Given the description of an element on the screen output the (x, y) to click on. 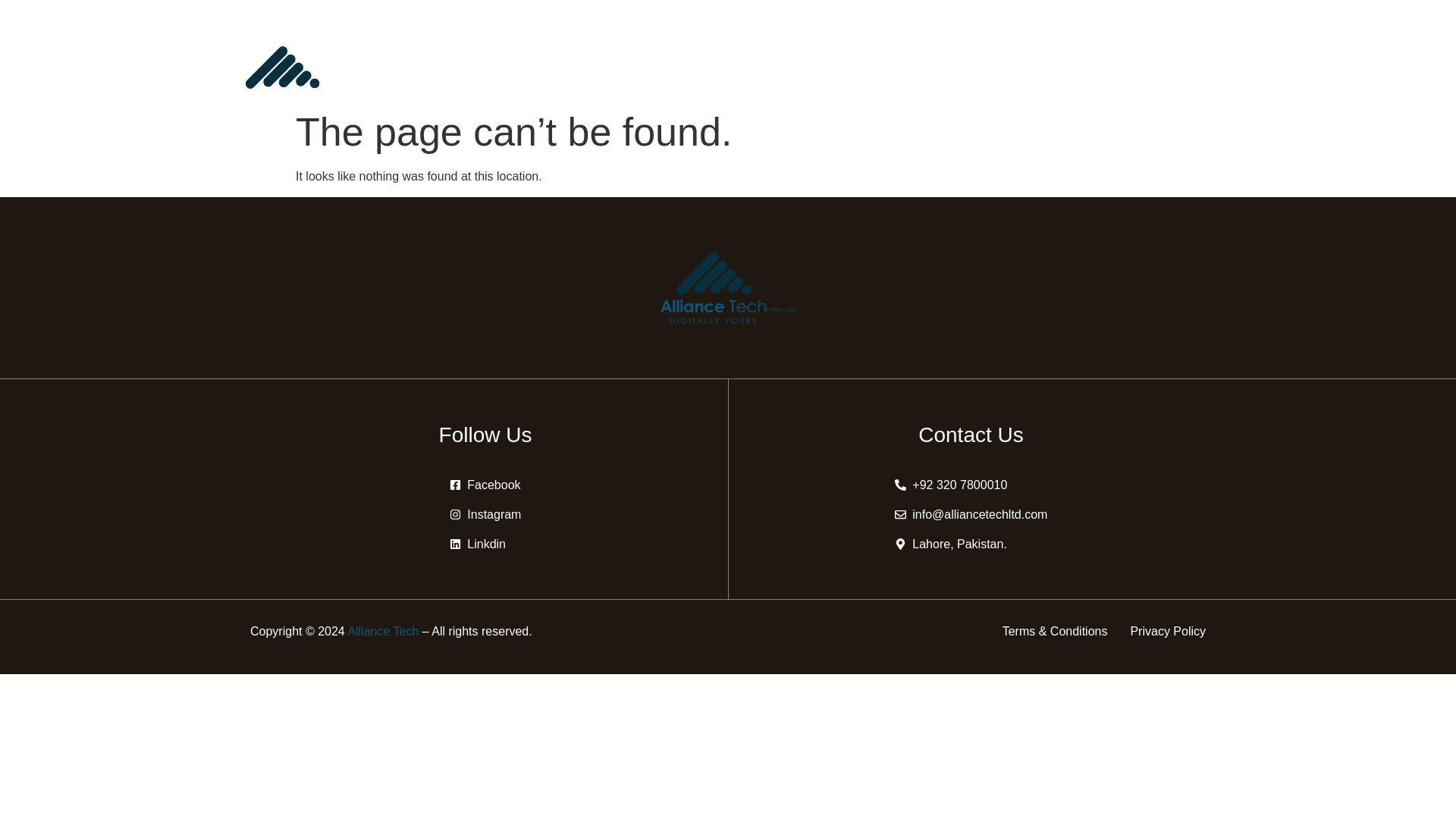
PORTFOLIO (863, 62)
CONTACT US (1162, 62)
ABOUT US (677, 62)
TECHNOLOGIES (969, 62)
Alliance Tech (383, 631)
SERVICES (768, 62)
HOME (604, 62)
CAREERS (1070, 62)
